Given the description of an element on the screen output the (x, y) to click on. 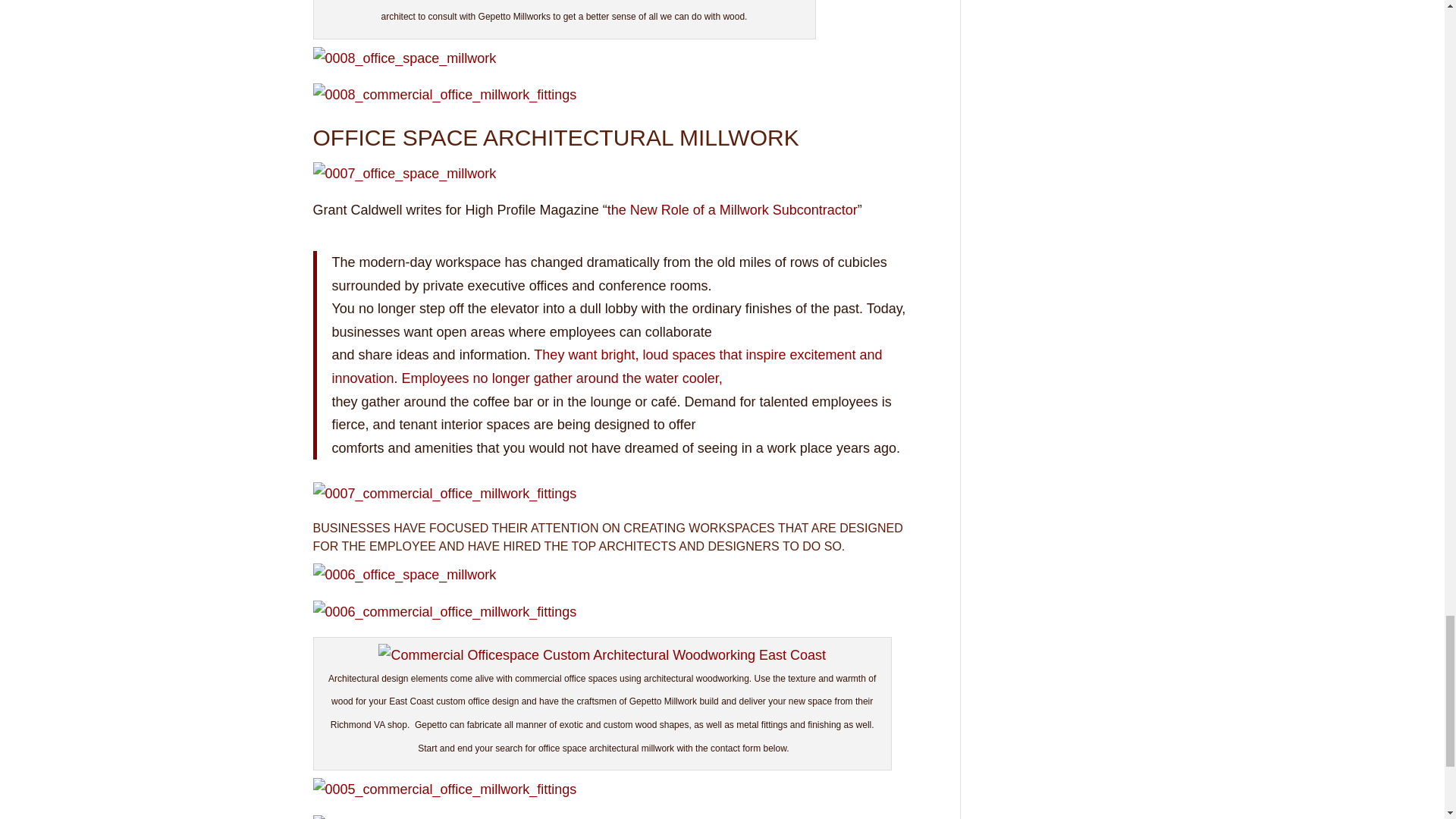
the New Role of a Millwork Subcontractor (732, 209)
